Given the description of an element on the screen output the (x, y) to click on. 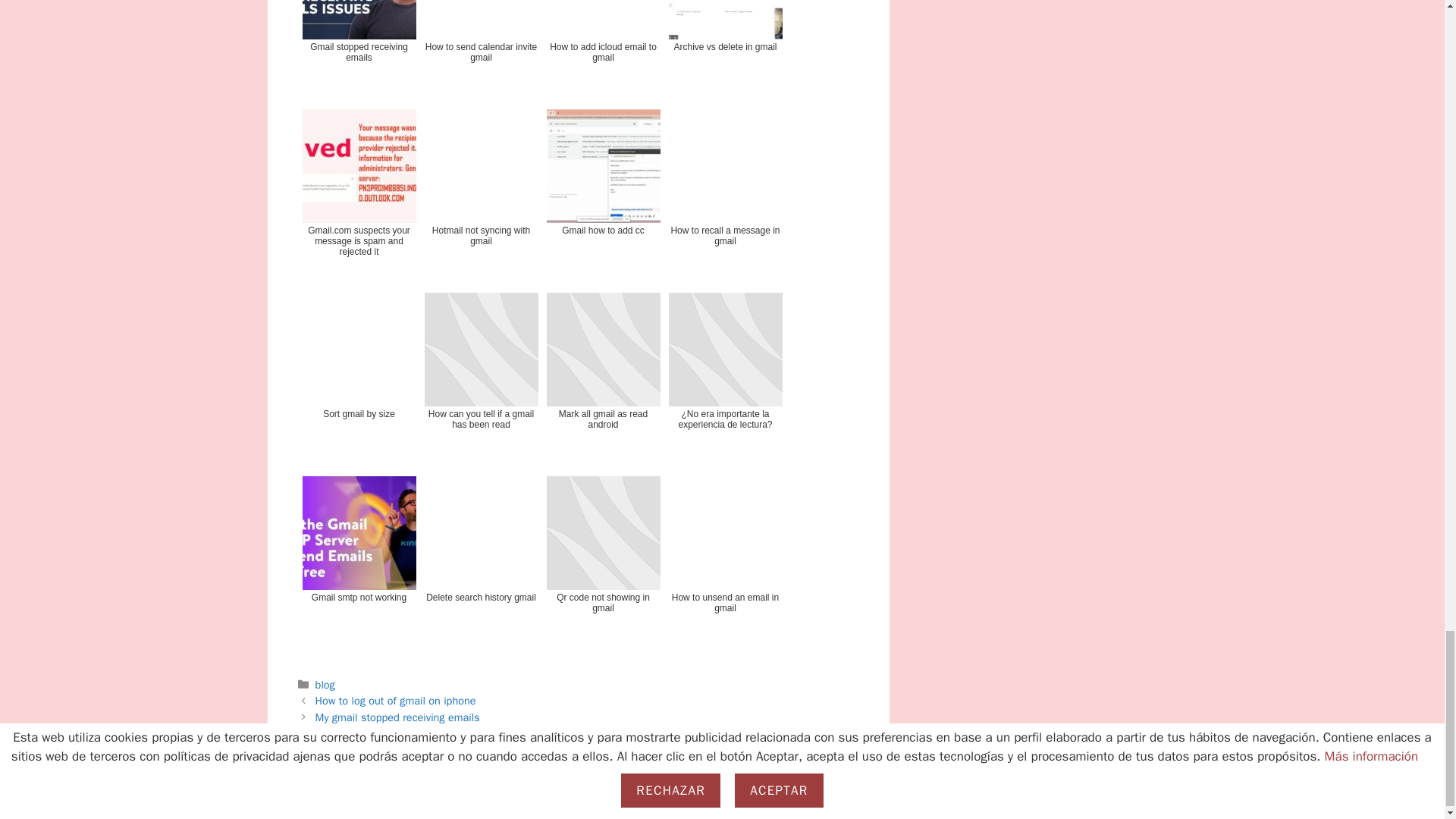
blog (324, 684)
My gmail stopped receiving emails (397, 716)
How to send calendar invite gmail (481, 50)
How to add icloud email to gmail (602, 50)
Gmail stopped receiving emails (358, 50)
Archive vs delete in gmail (725, 50)
How to log out of gmail on iphone (395, 700)
